Given the description of an element on the screen output the (x, y) to click on. 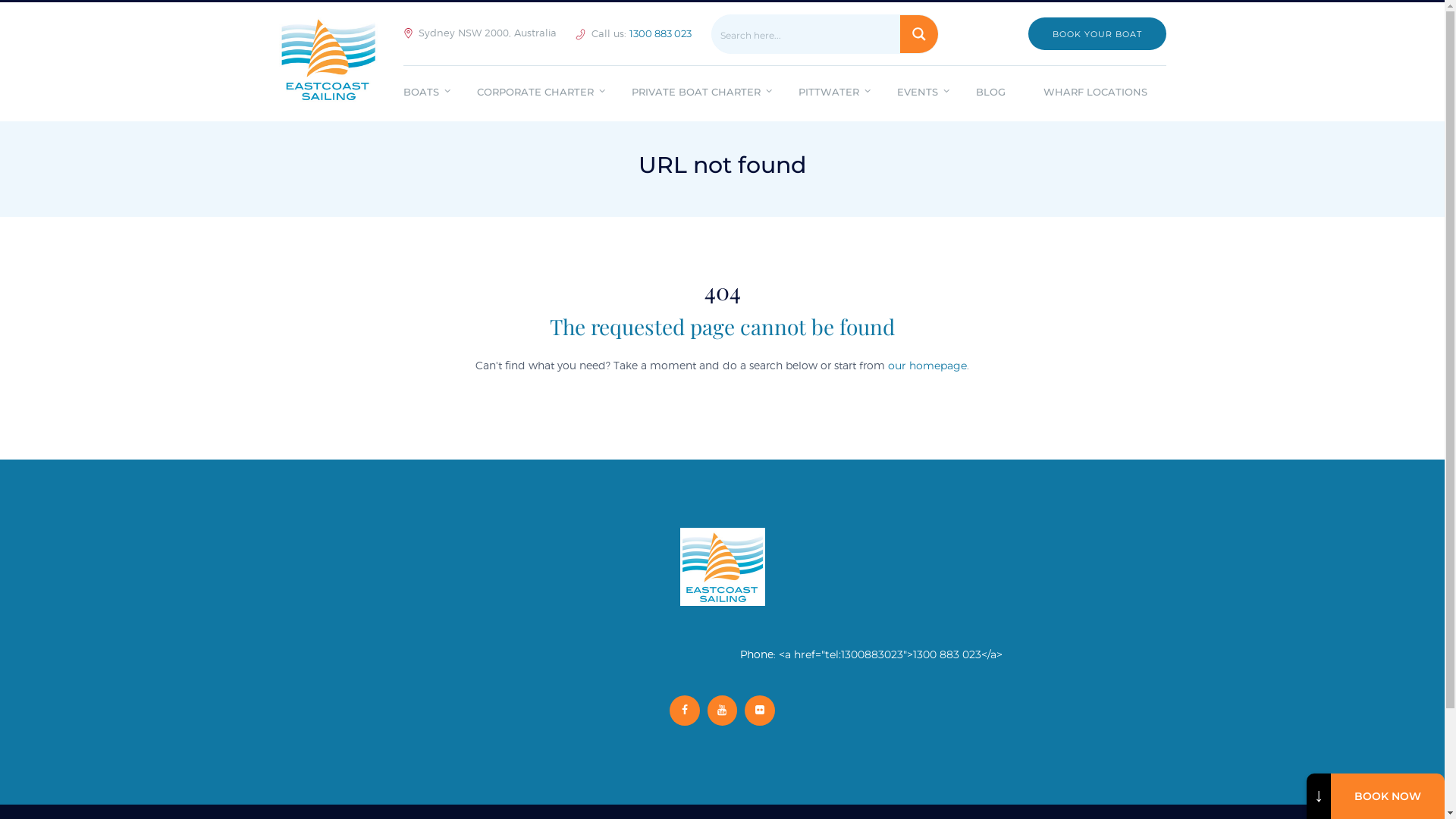
BLOG Element type: text (990, 93)
PRIVATE BOAT CHARTER Element type: text (695, 93)
PITTWATER Element type: text (828, 93)
1300 883 023 Element type: text (660, 33)
BOOK YOUR BOAT Element type: text (1097, 33)
BOATS Element type: text (430, 93)
WHARF LOCATIONS Element type: text (1095, 93)
EVENTS Element type: text (917, 93)
<a href="tel:1300883023">1300 883 023</a> Element type: text (890, 654)
our homepage Element type: text (927, 365)
CORPORATE CHARTER Element type: text (535, 93)
